Given the description of an element on the screen output the (x, y) to click on. 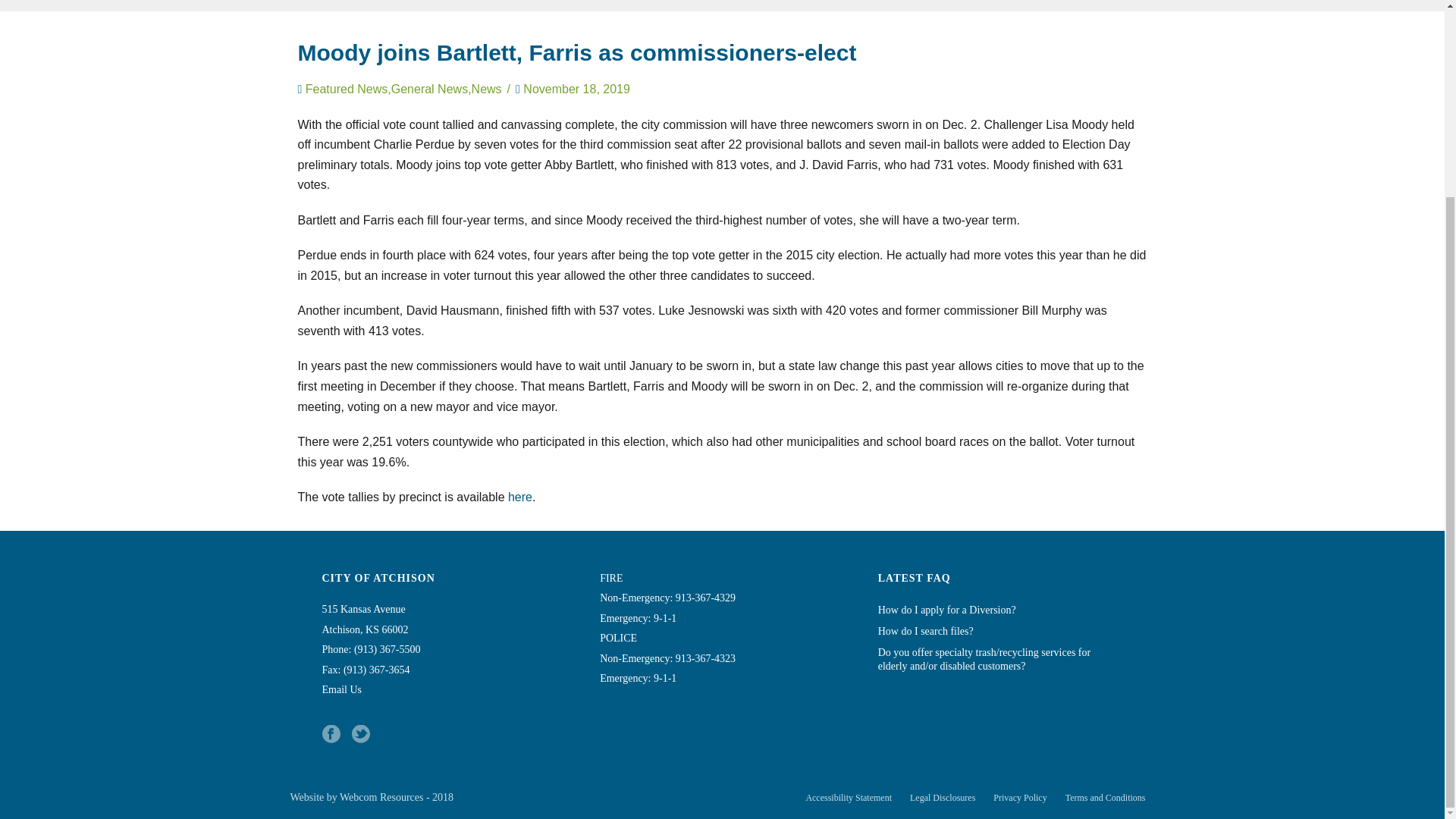
Follow Us on twitter (360, 734)
8:27 PM (576, 88)
8:27 PM (576, 89)
Follow Us on facebook (330, 734)
